Given the description of an element on the screen output the (x, y) to click on. 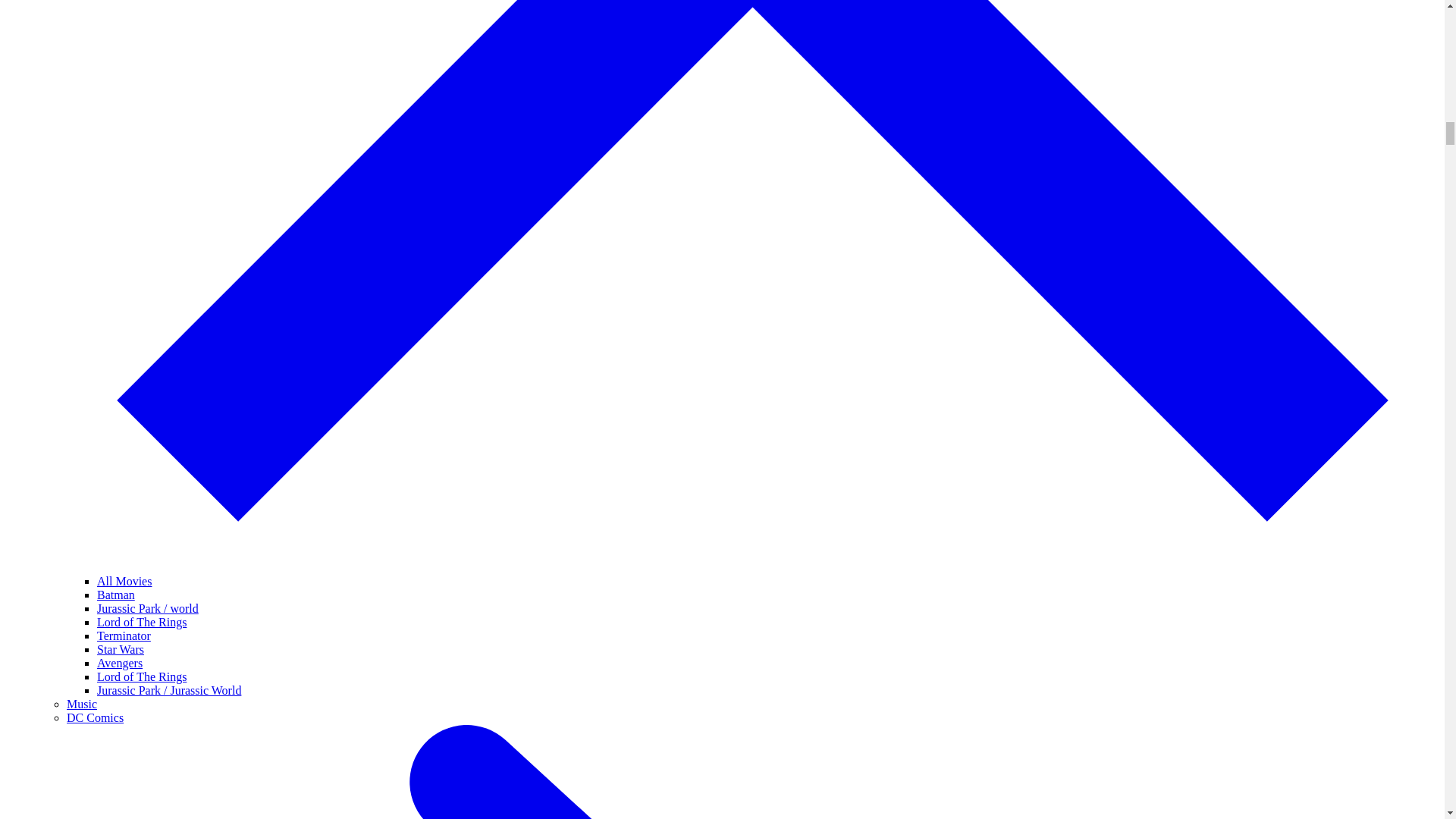
Batman (116, 594)
Star Wars (120, 649)
Music (81, 703)
Lord of The Rings (141, 676)
Avengers (119, 662)
Terminator (124, 635)
Lord of The Rings (141, 621)
All Movies (124, 581)
